Given the description of an element on the screen output the (x, y) to click on. 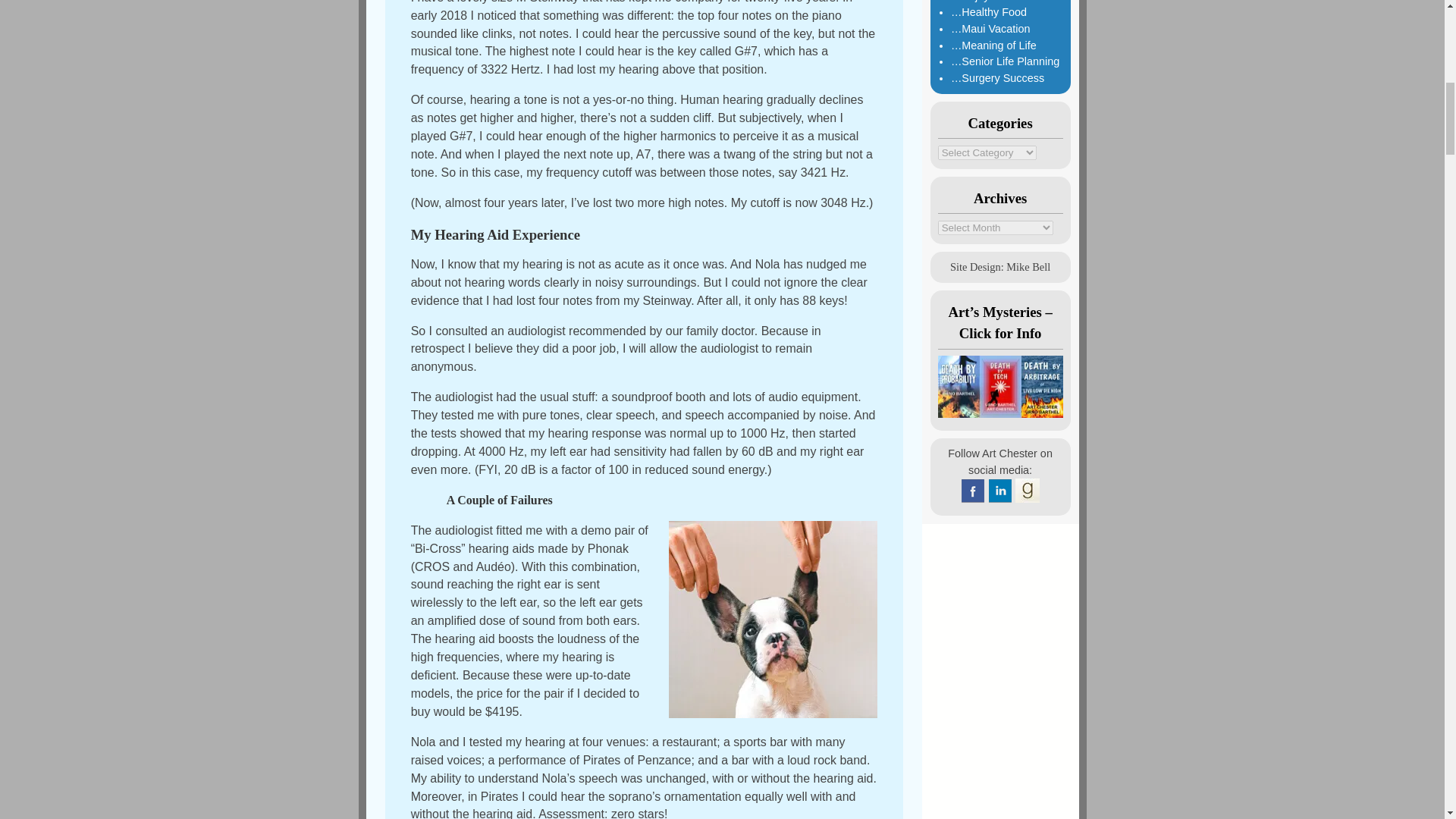
Facebook (972, 490)
LinkedIn (999, 490)
Goodreads (1026, 490)
